Given the description of an element on the screen output the (x, y) to click on. 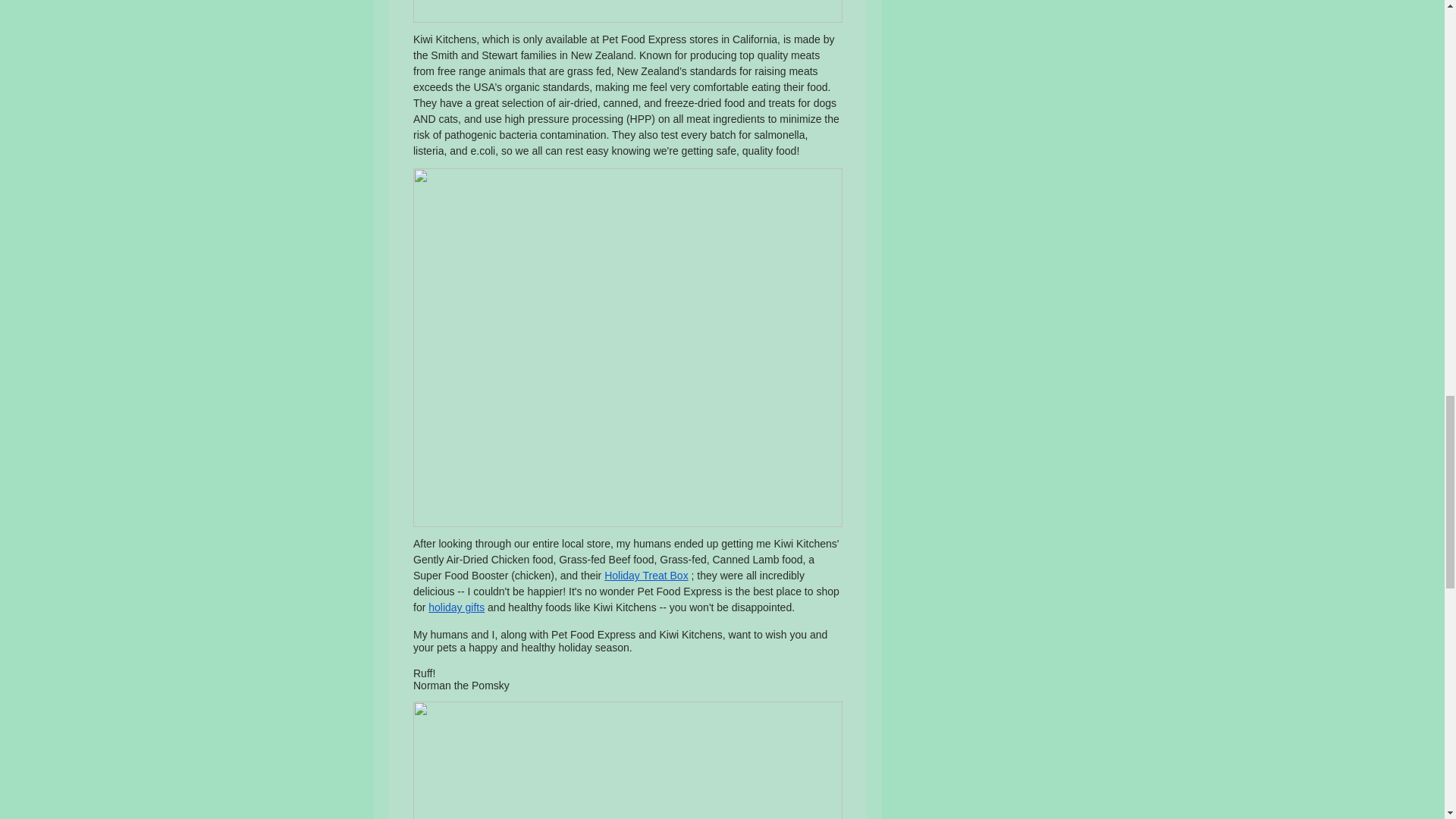
Holiday Treat Box (646, 575)
holiday gifts (456, 607)
